Given the description of an element on the screen output the (x, y) to click on. 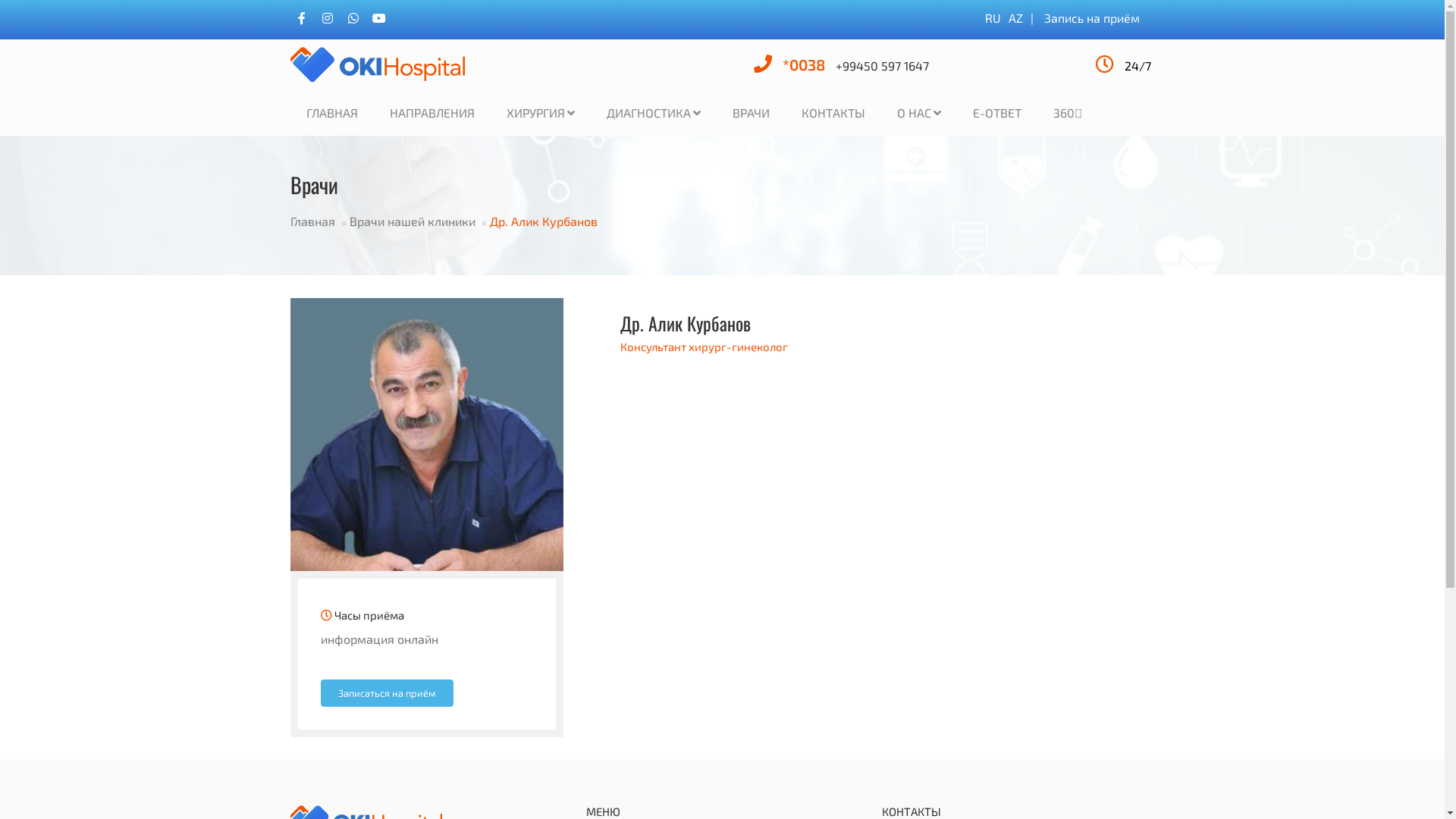
RU Element type: text (992, 17)
AZ Element type: text (1015, 17)
